Given the description of an element on the screen output the (x, y) to click on. 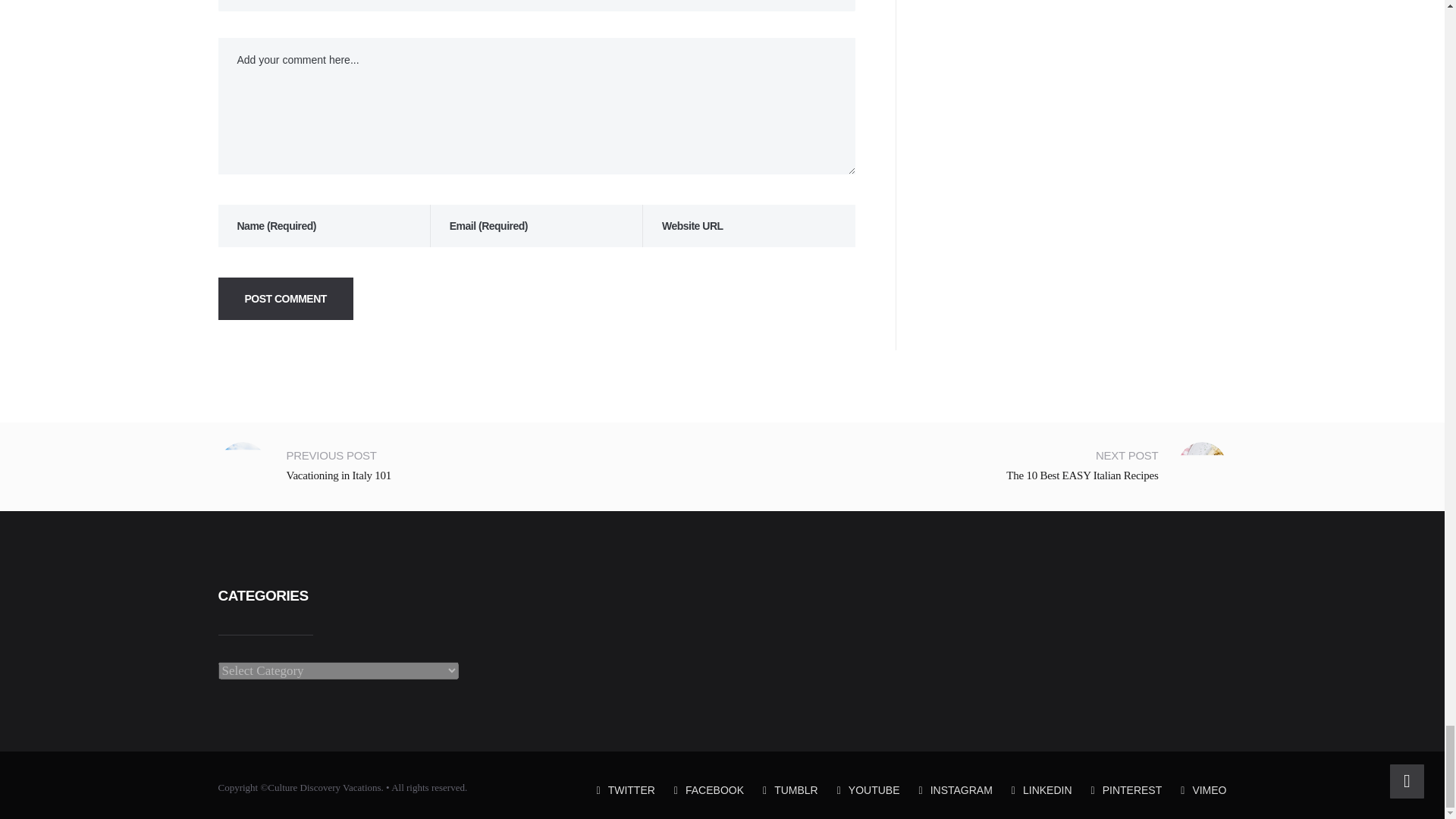
Post Comment (285, 298)
YouTube (868, 789)
Pinterest (1125, 789)
Instagram (955, 789)
LinkedIn (1041, 789)
Vimeo (1202, 789)
Tumblr (790, 789)
Twitter (625, 789)
Facebook (709, 789)
